Given the description of an element on the screen output the (x, y) to click on. 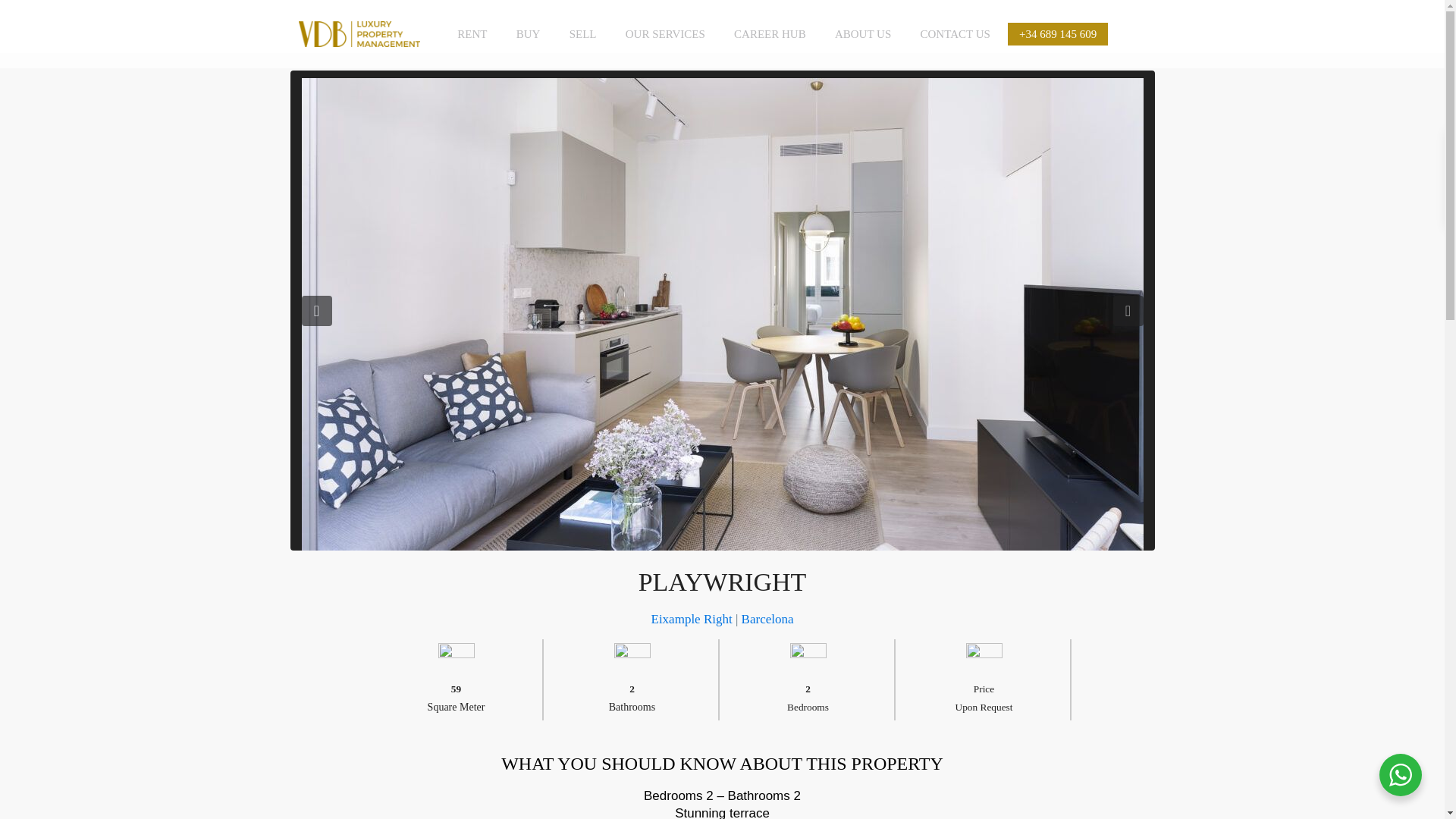
ABOUT US (863, 33)
OUR SERVICES (665, 33)
CONTACT US (954, 33)
CAREER HUB (769, 33)
